Given the description of an element on the screen output the (x, y) to click on. 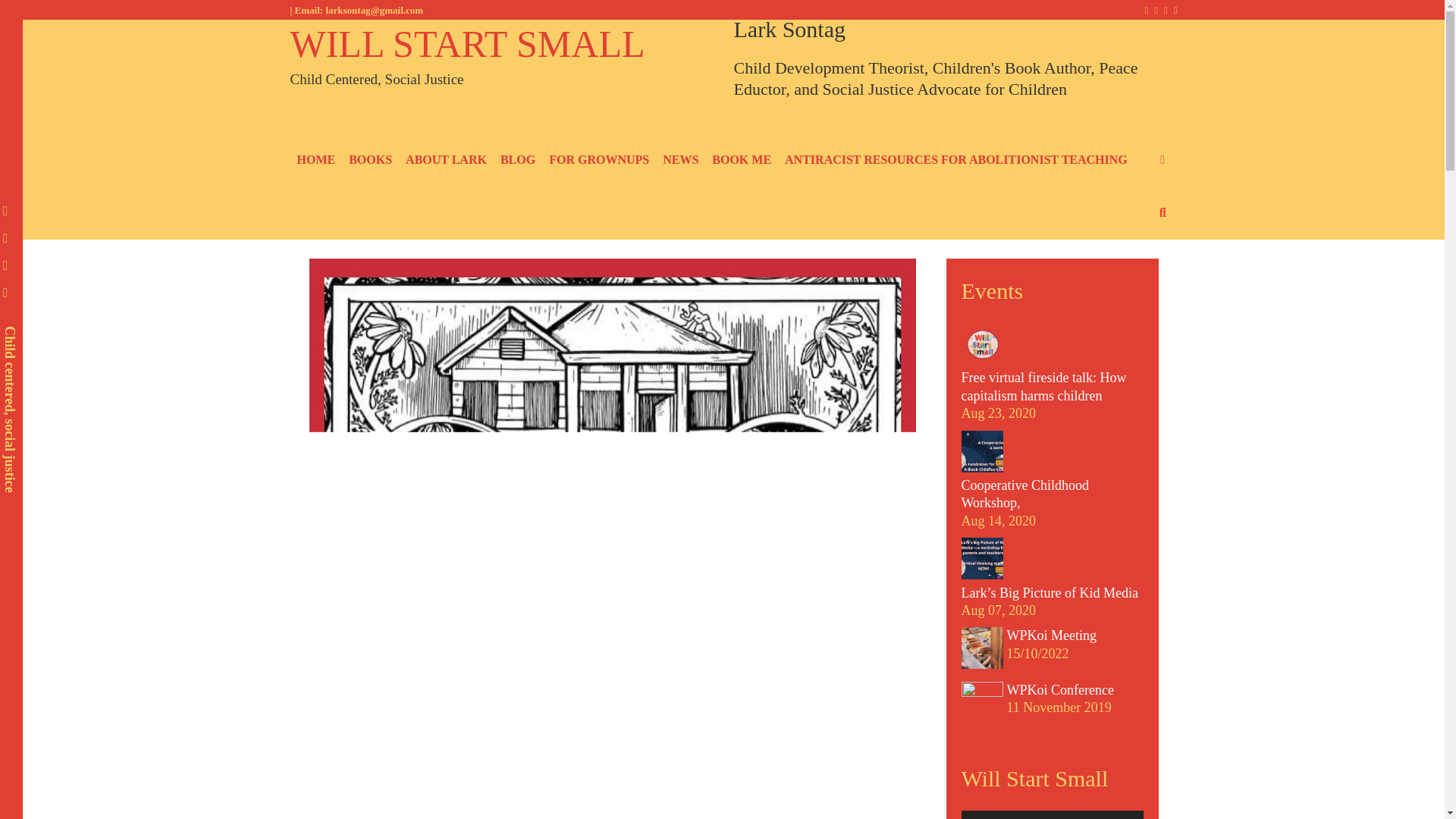
BLOG (517, 159)
FOR GROWNUPS (598, 159)
Search (443, 53)
BOOK ME (740, 159)
ANTIRACIST RESOURCES FOR ABOLITIONIST TEACHING (955, 159)
NEWS (680, 159)
HOME (315, 159)
WILL START SMALL (467, 43)
BOOKS (370, 159)
ABOUT LARK (445, 159)
